Given the description of an element on the screen output the (x, y) to click on. 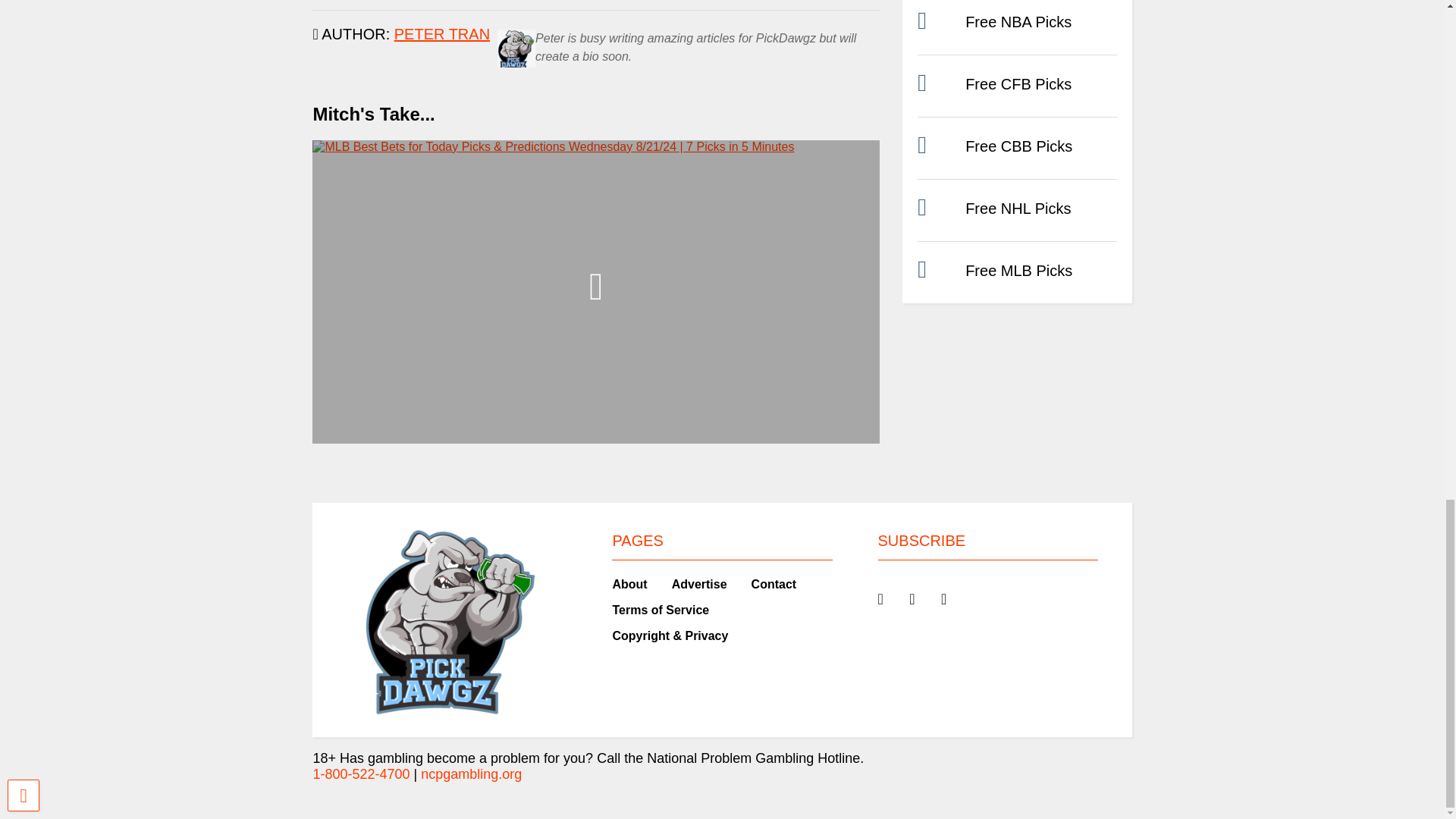
Free MLB Picks (1018, 270)
Free NBA Picks (1018, 21)
Free CBB Picks (1018, 146)
Free NHL Picks (1017, 208)
author profile (441, 33)
Free CFB Picks (1018, 84)
